Given the description of an element on the screen output the (x, y) to click on. 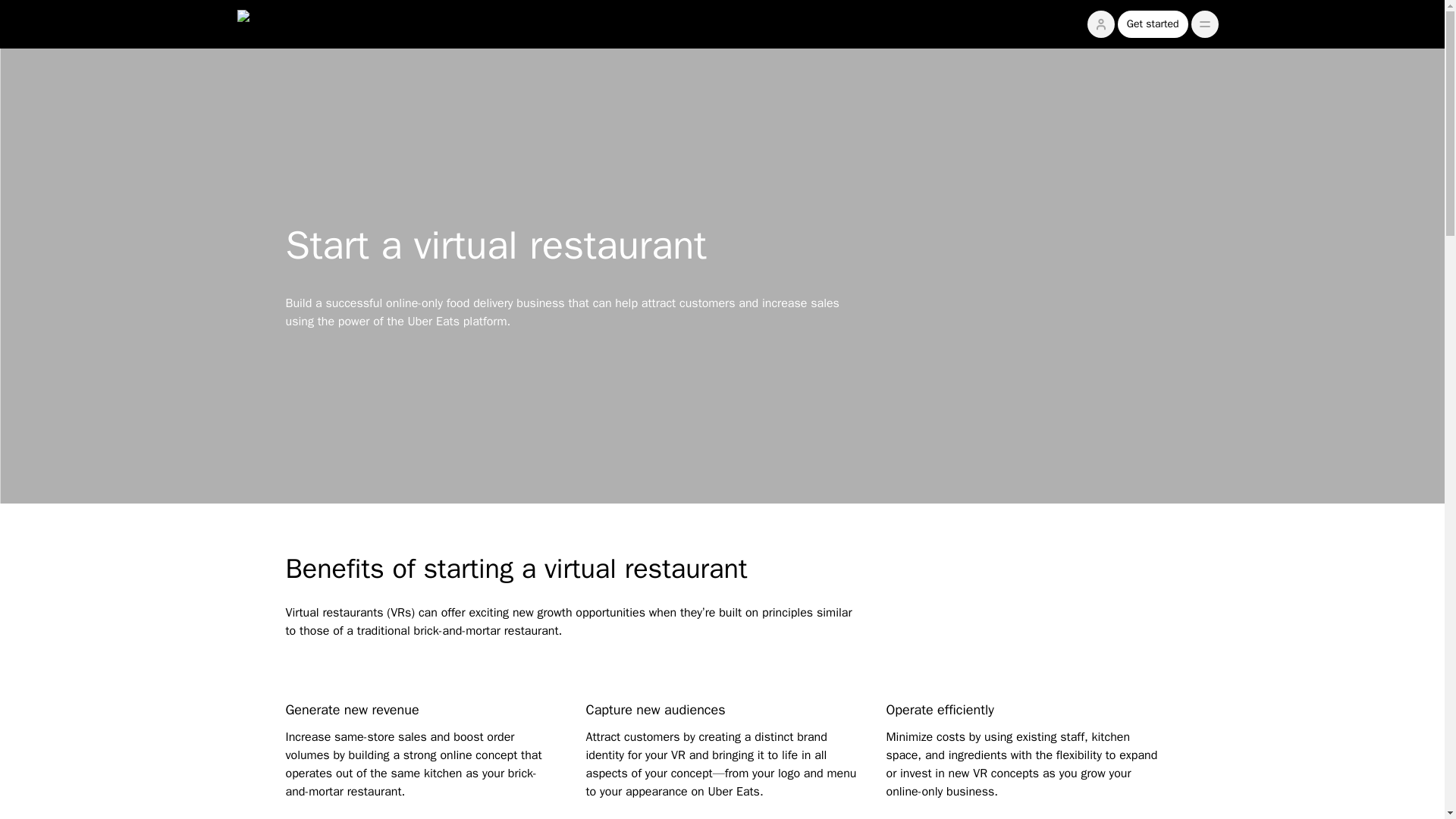
, (1203, 24)
, (1204, 23)
Get started (1153, 23)
